Given the description of an element on the screen output the (x, y) to click on. 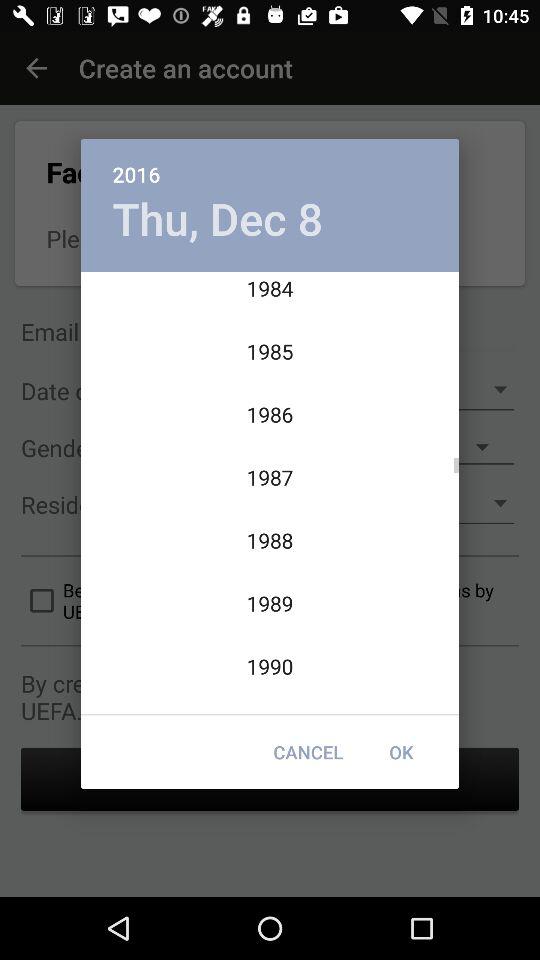
swipe until the thu, dec 8 (217, 218)
